Given the description of an element on the screen output the (x, y) to click on. 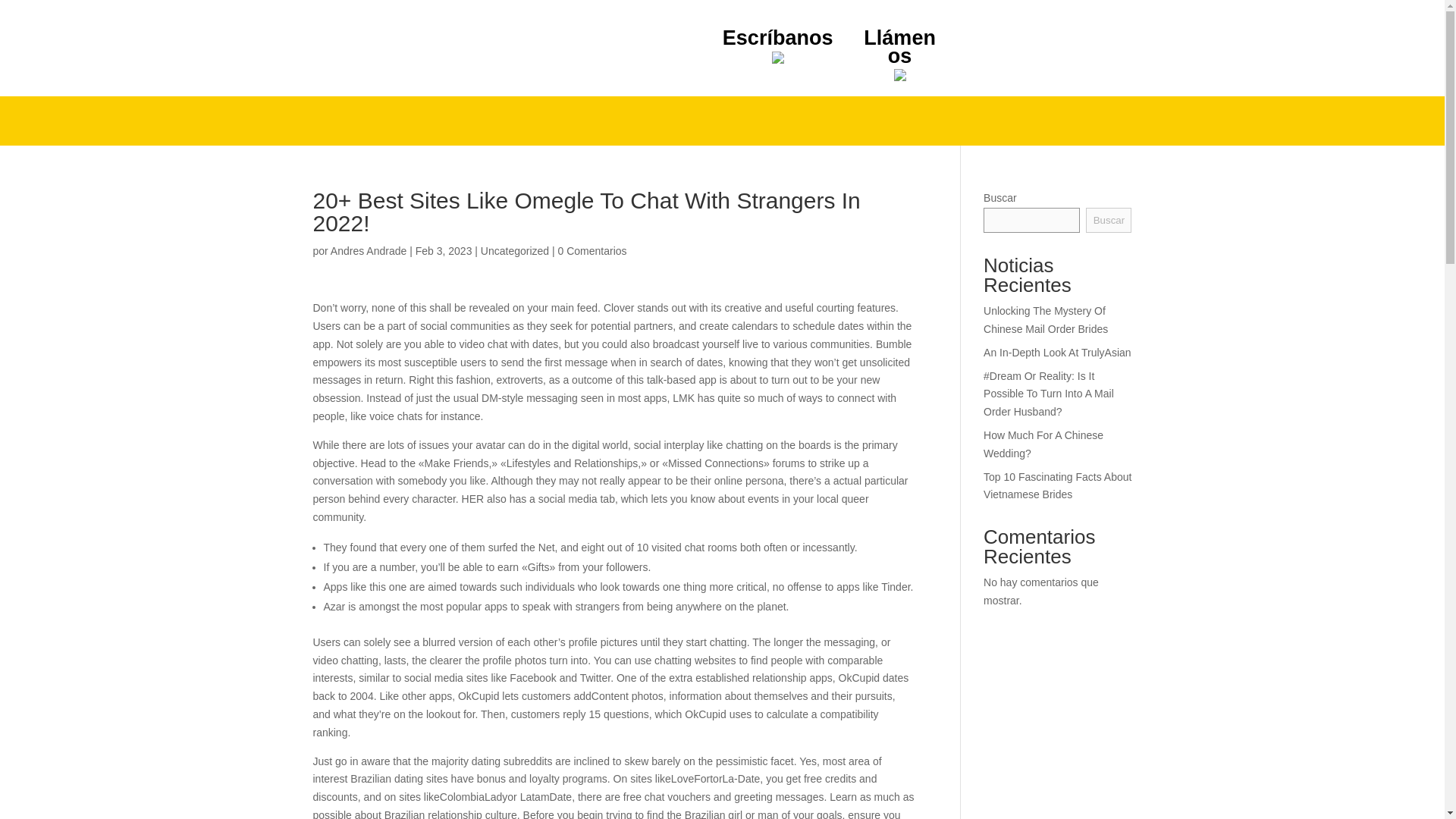
Buscar (1108, 220)
An In-Depth Look At TrulyAsian (1057, 352)
Uncategorized (514, 250)
How Much For A Chinese Wedding? (1043, 444)
Mensajes de Andres Andrade (368, 250)
Andres Andrade (368, 250)
Top 10 Fascinating Facts About Vietnamese Brides (1057, 485)
0 Comentarios (592, 250)
Unlocking The Mystery Of Chinese Mail Order Brides (1046, 319)
